Given the description of an element on the screen output the (x, y) to click on. 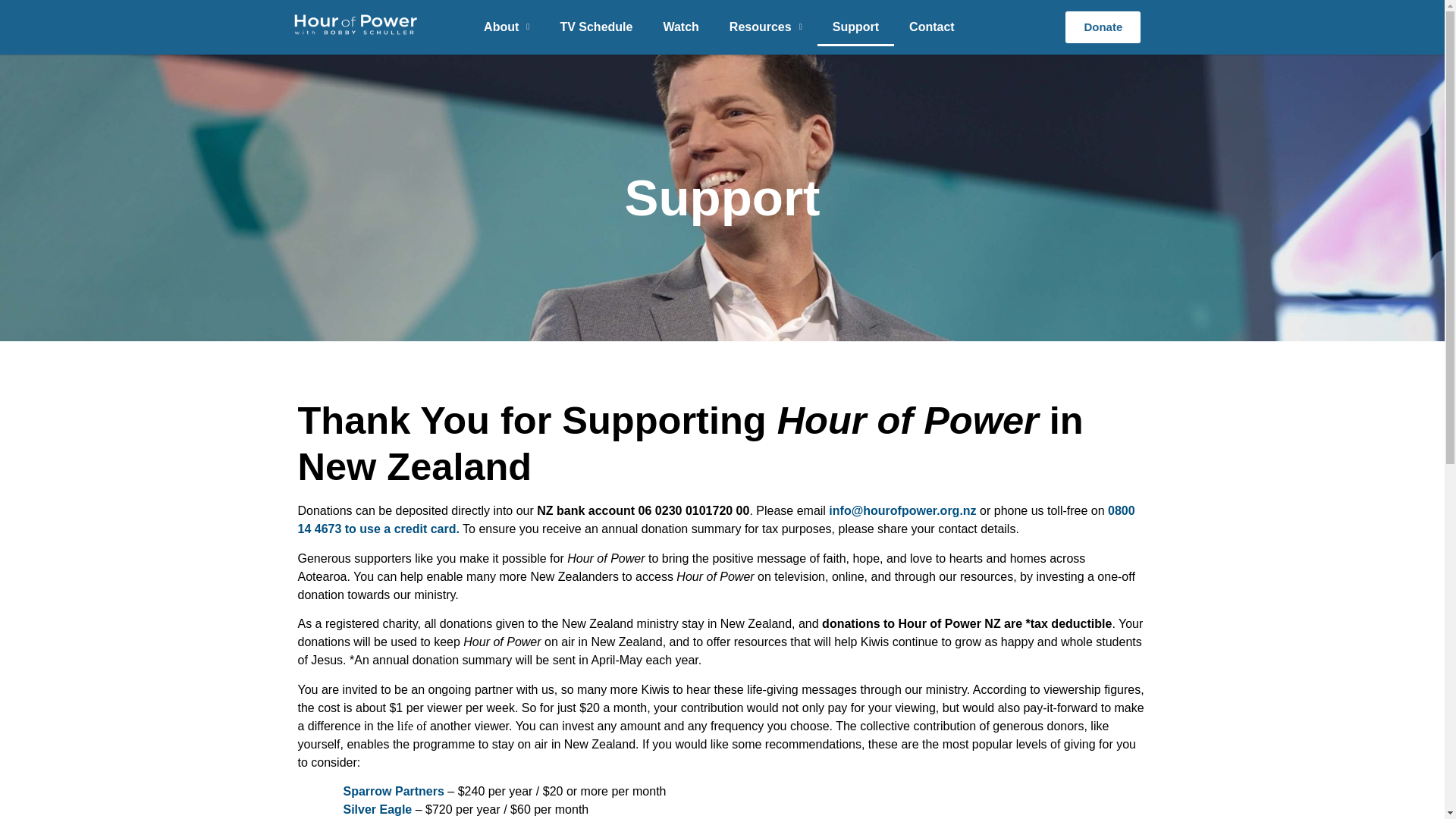
Watch (680, 26)
About (506, 26)
Resources (765, 26)
TV Schedule (595, 26)
Donate (1102, 27)
Contact (931, 26)
Support (854, 26)
